Given the description of an element on the screen output the (x, y) to click on. 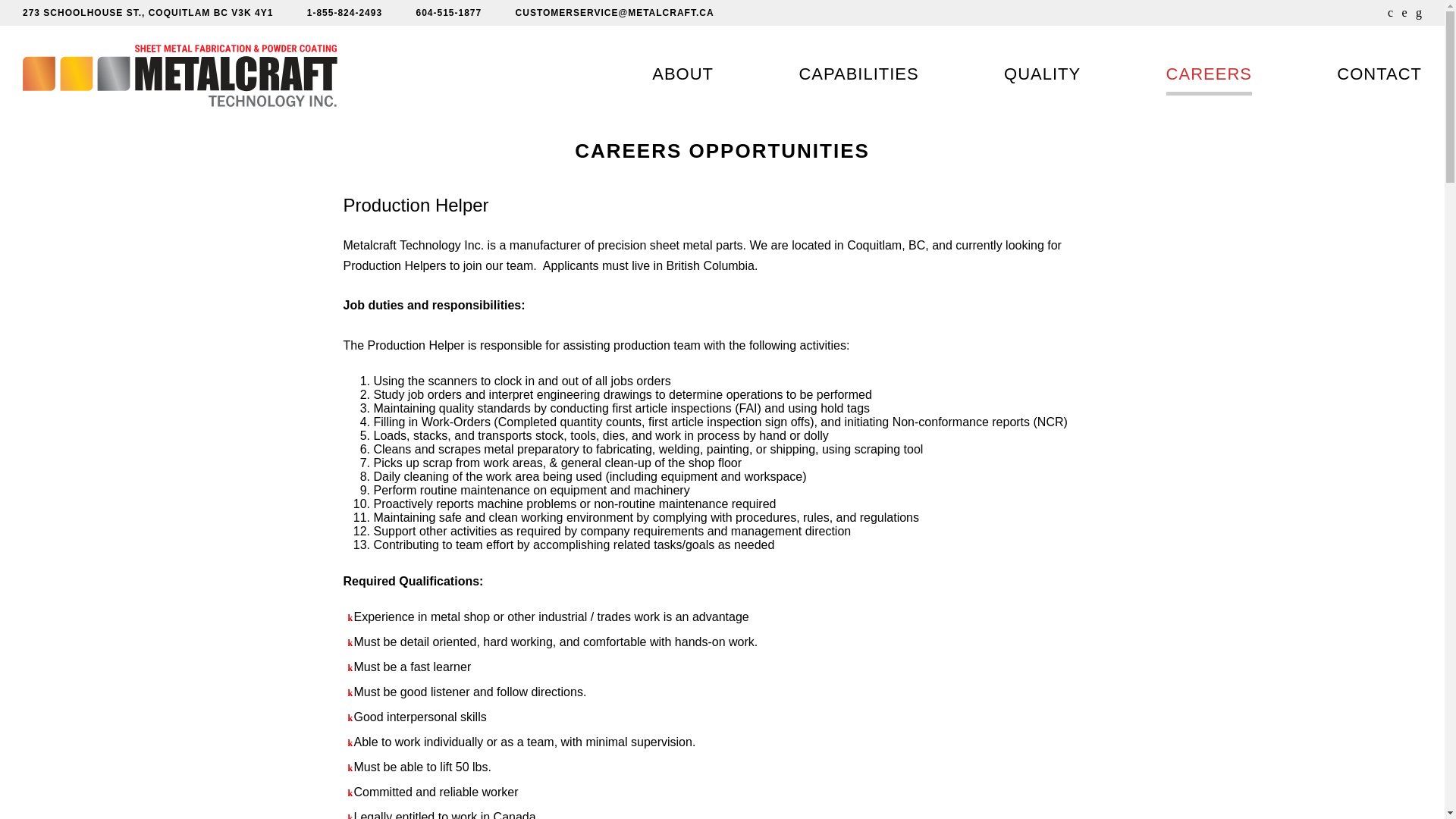
CONTACT (1379, 75)
604-515-1877 (447, 12)
CAPABILITIES (857, 75)
ABOUT (682, 75)
QUALITY (1042, 75)
CAREERS (1209, 75)
1-855-824-2493 (344, 12)
